Given the description of an element on the screen output the (x, y) to click on. 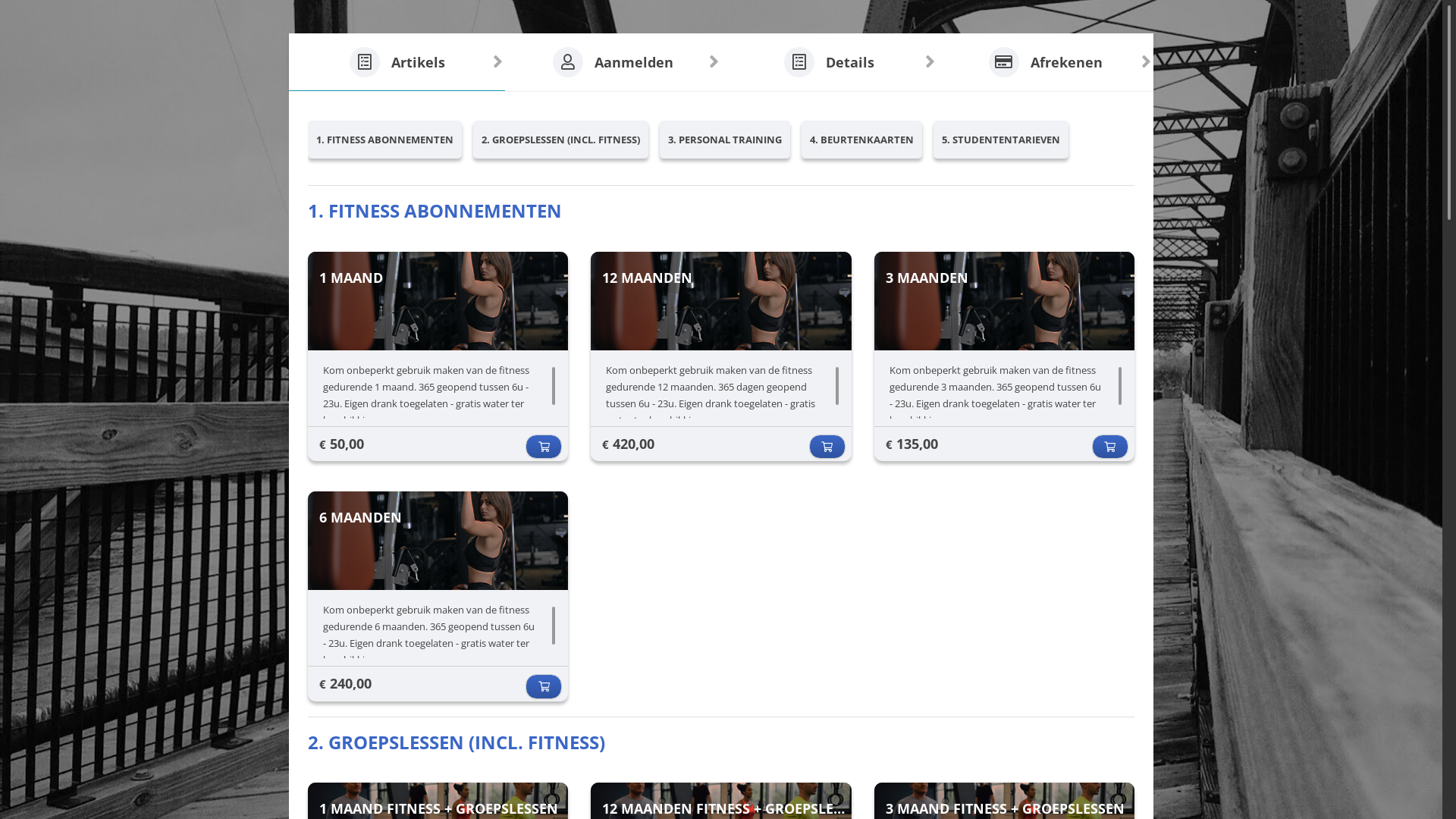
5. STUDENTENTARIEVEN Element type: text (1000, 139)
2. GROEPSLESSEN (INCL. FITNESS) Element type: text (560, 139)
1. FITNESS ABONNEMENTEN Element type: text (384, 139)
Afrekenen Element type: text (1045, 62)
4. BEURTENKAARTEN Element type: text (861, 139)
Artikels Element type: text (396, 62)
3. PERSONAL TRAINING Element type: text (724, 139)
Details Element type: text (829, 62)
Aanmelden Element type: text (613, 62)
